Given the description of an element on the screen output the (x, y) to click on. 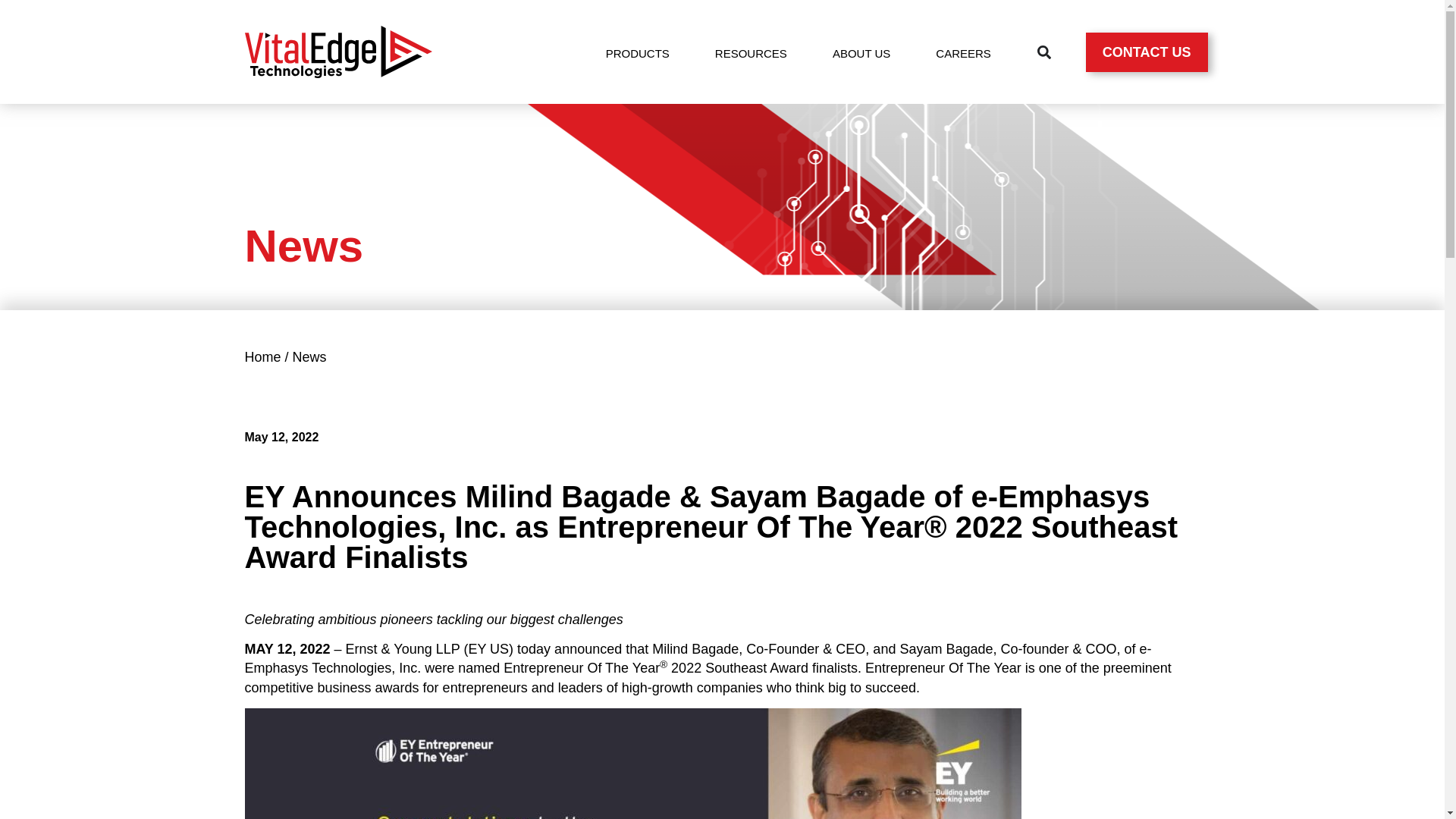
News (309, 356)
Home (262, 356)
CONTACT US (1147, 51)
